Given the description of an element on the screen output the (x, y) to click on. 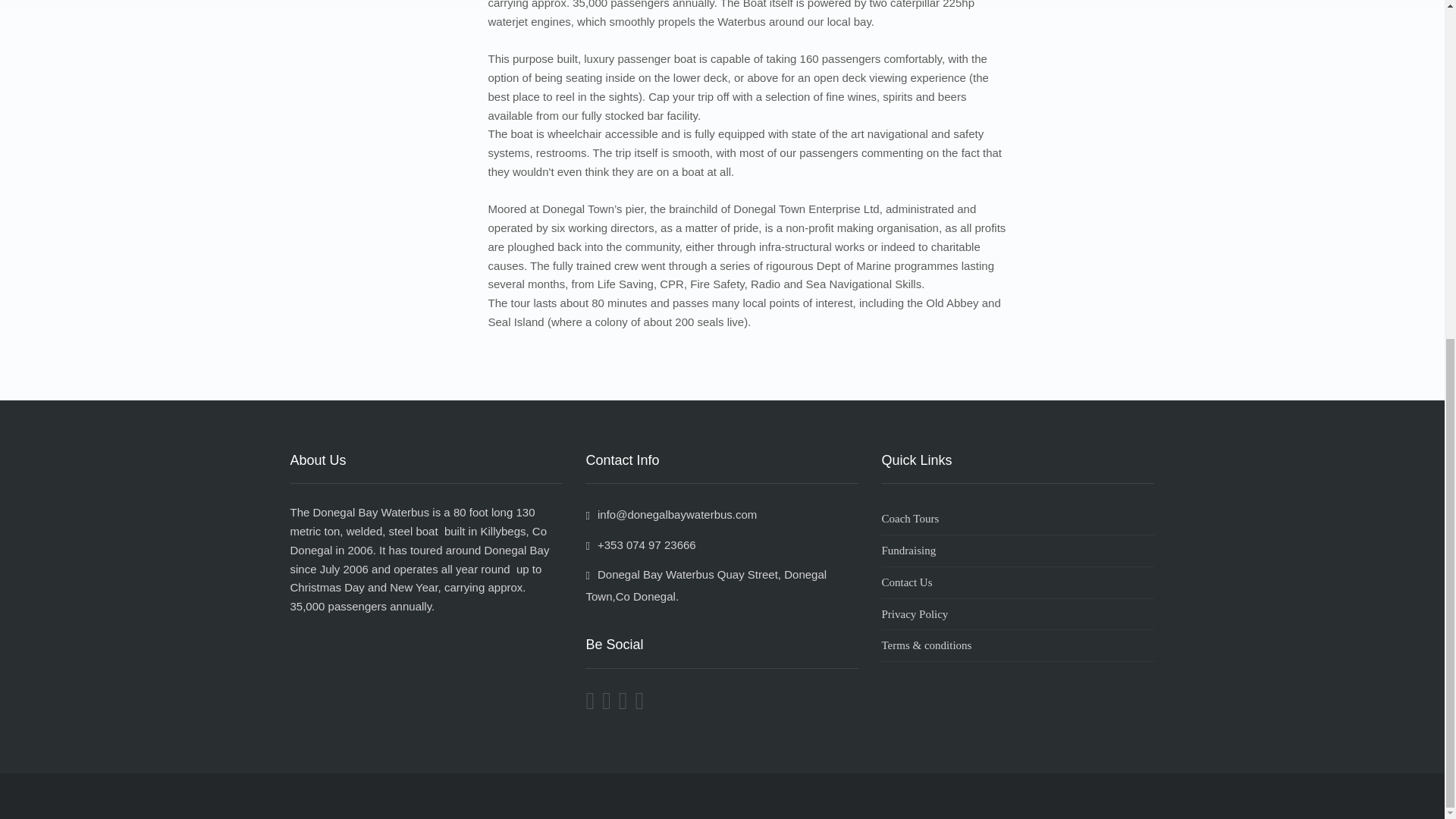
Coach Tours (1017, 519)
Donegal Bay Waterbus Quay Street, Donegal Town,Co Donegal. (706, 585)
Contact Us (1017, 582)
Fundraising (1017, 551)
Privacy Policy (1017, 614)
